Given the description of an element on the screen output the (x, y) to click on. 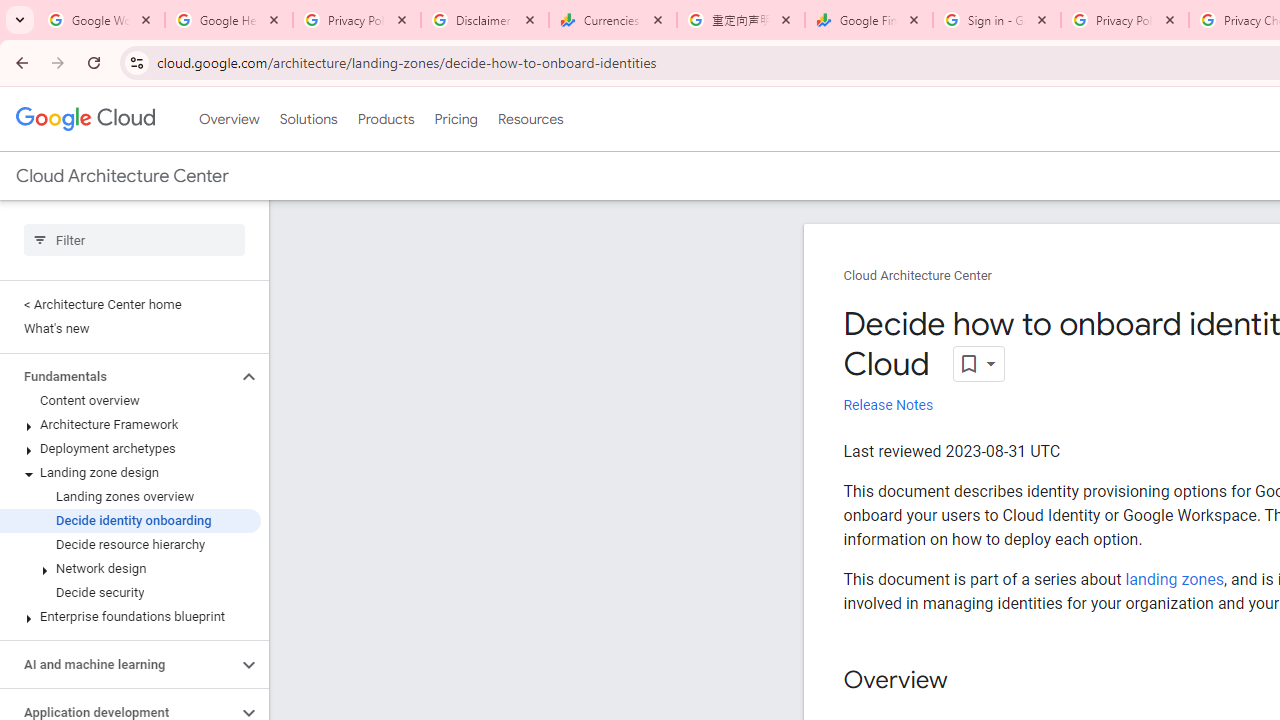
Resources (530, 119)
Google Workspace Admin Community (101, 20)
Open dropdown (978, 364)
< Architecture Center home (130, 304)
Architecture Framework (130, 425)
Currencies - Google Finance (613, 20)
Fundamentals (118, 376)
